Given the description of an element on the screen output the (x, y) to click on. 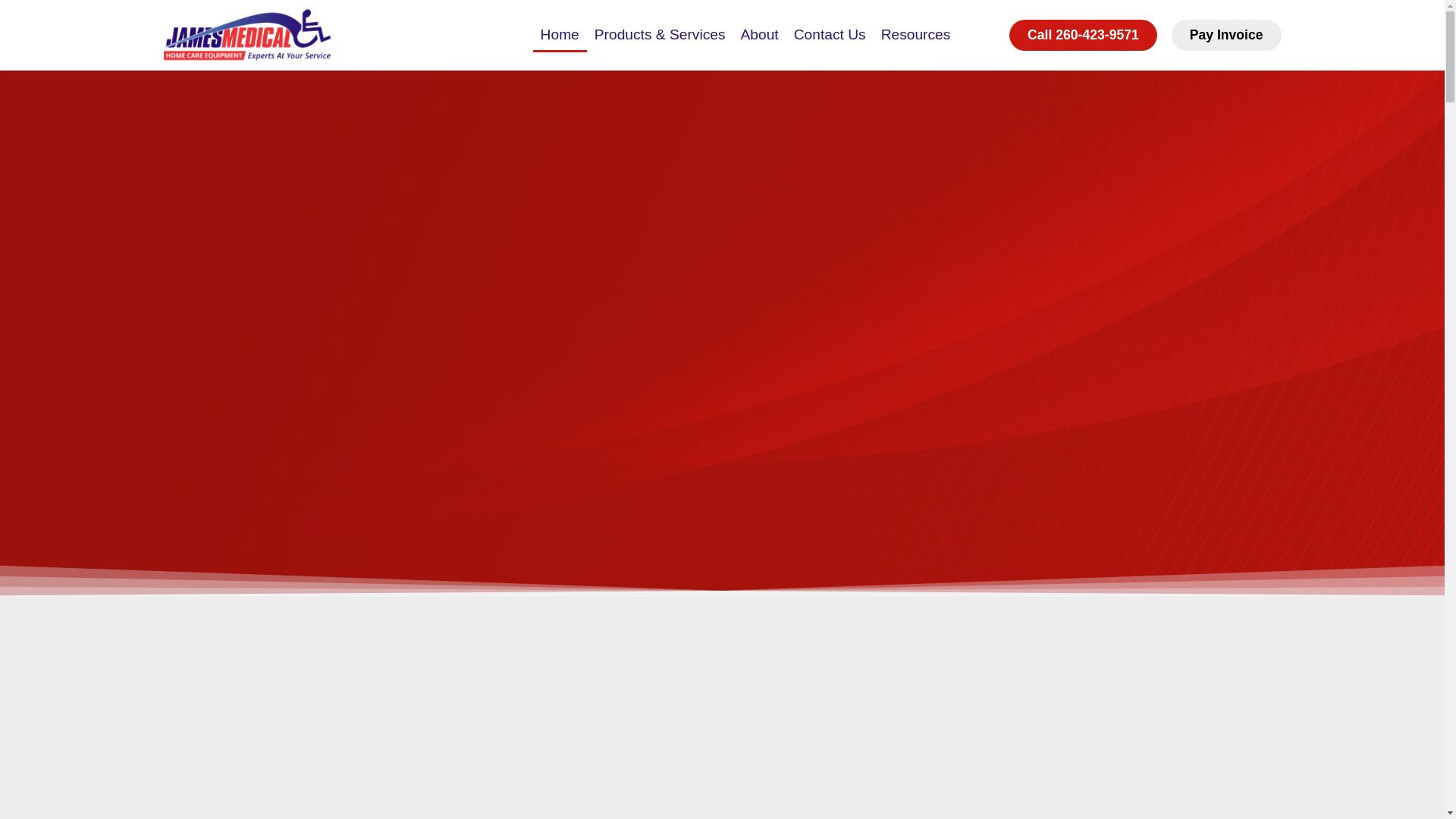
Contact Us (829, 34)
About (759, 34)
Call 260-423-9571 (1083, 35)
Home (559, 34)
Resources (915, 34)
Pay Invoice (1226, 35)
